Given the description of an element on the screen output the (x, y) to click on. 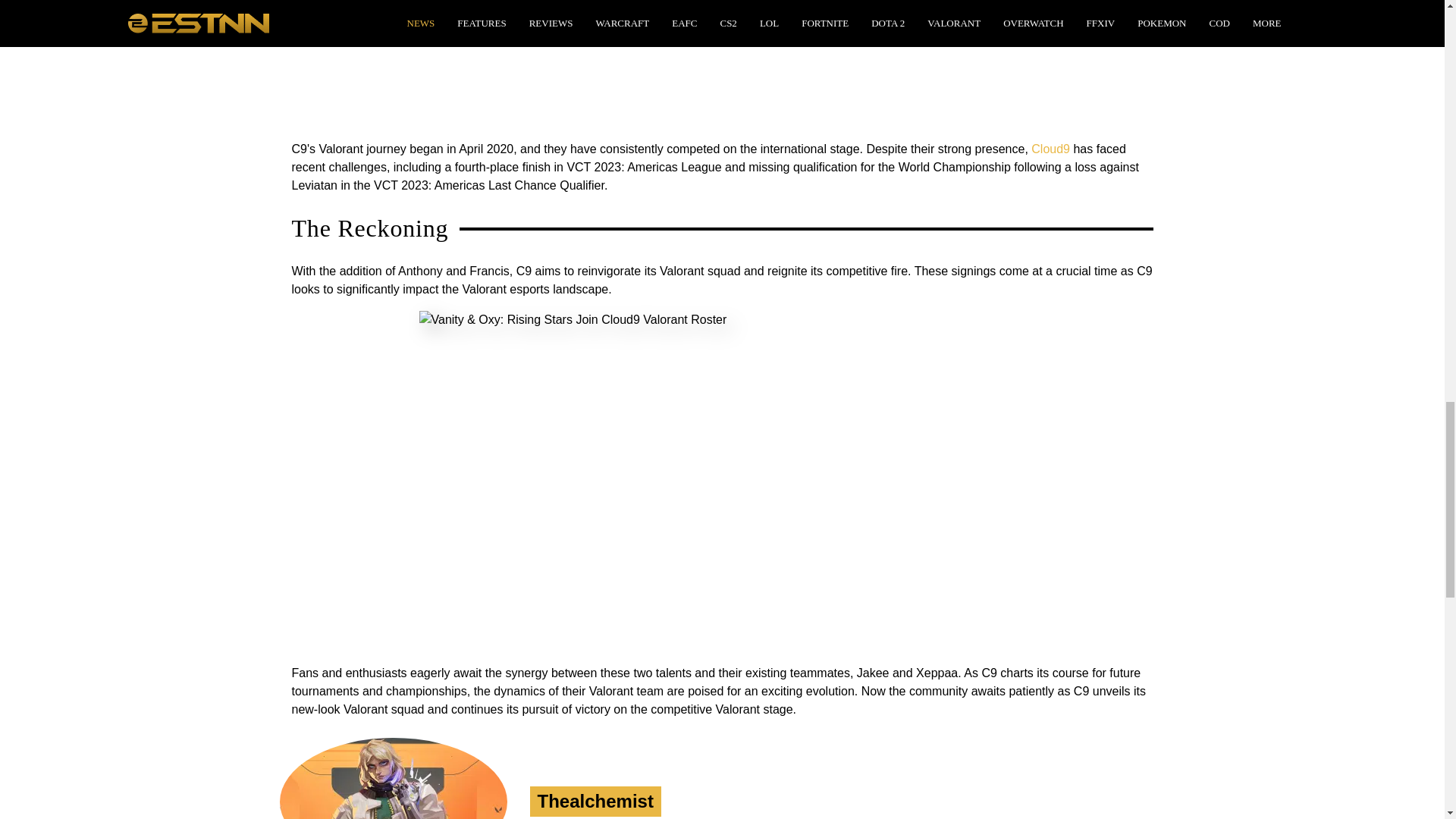
Thealchemist (594, 801)
Cloud9 (1050, 148)
